Given the description of an element on the screen output the (x, y) to click on. 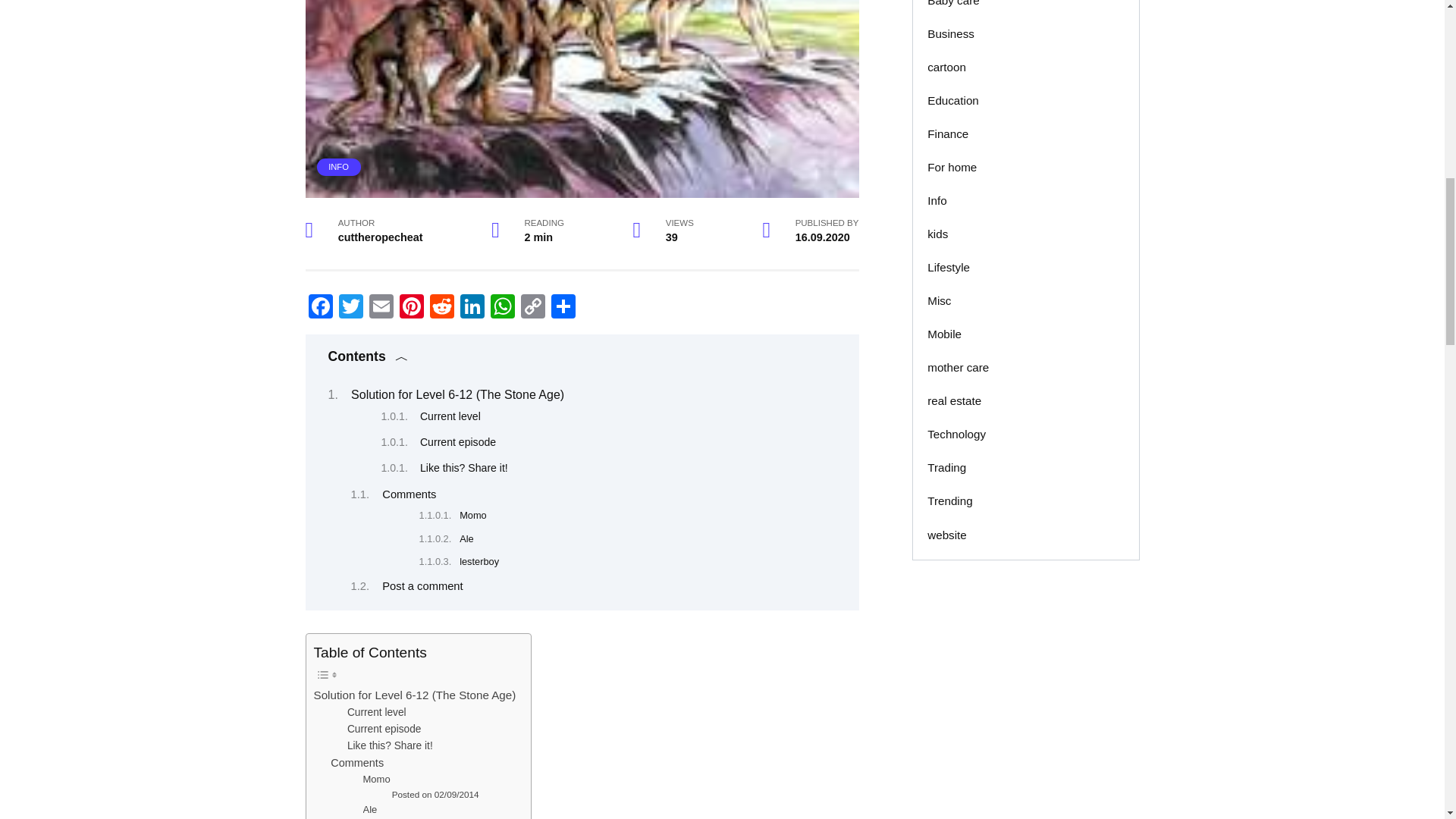
Facebook (319, 308)
Email (380, 308)
LinkedIn (471, 308)
Current level (450, 416)
Copy Link (531, 308)
Email (380, 308)
Twitter (349, 308)
Like this? Share it! (464, 467)
Twitter (349, 308)
Current level (376, 712)
